Given the description of an element on the screen output the (x, y) to click on. 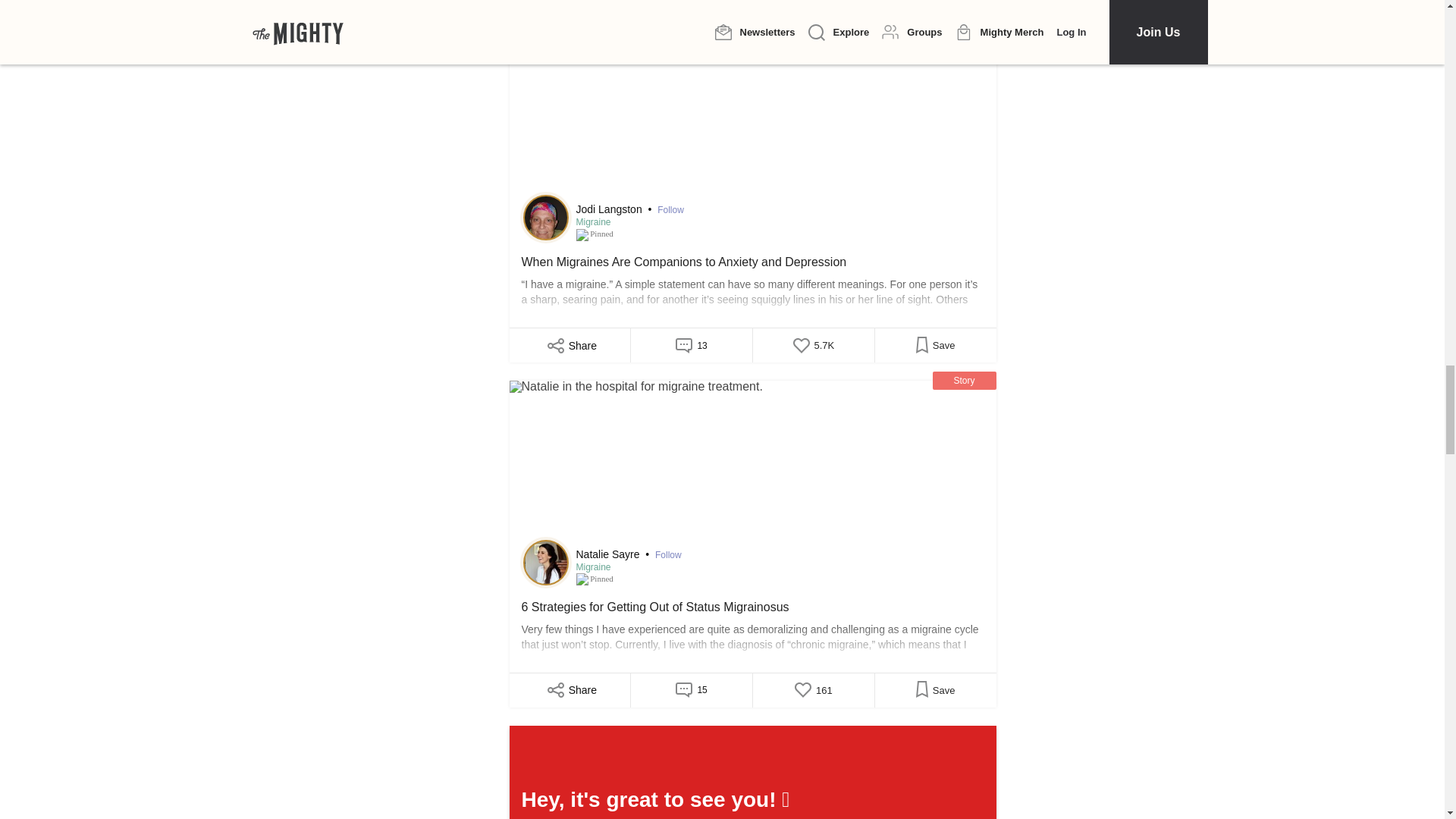
When Migraines Are Companions to Anxiety and Depression (752, 117)
Visit Jodi Langston's profile (545, 217)
